Given the description of an element on the screen output the (x, y) to click on. 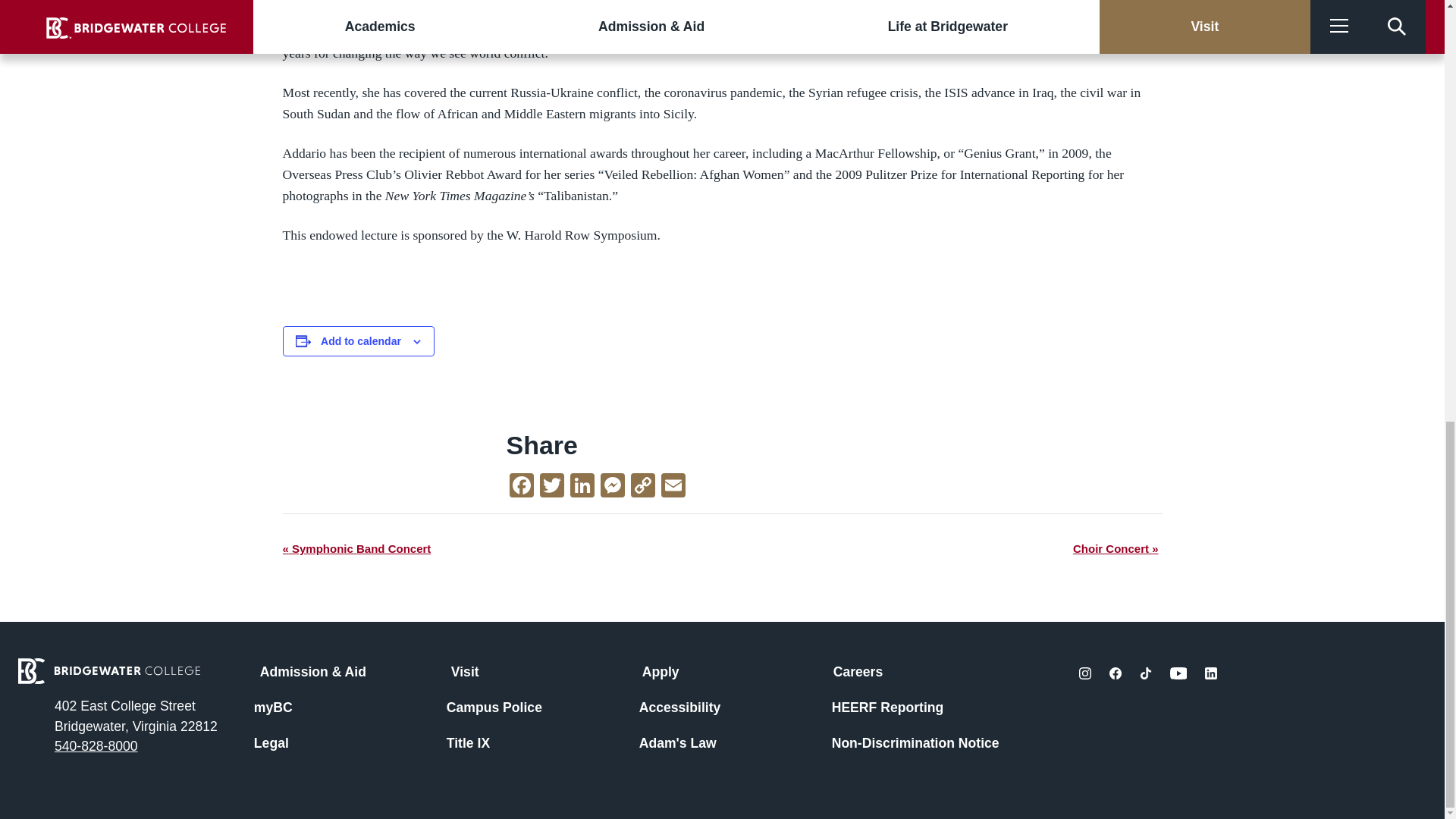
Copy Link (642, 487)
social-instagram-fill (1084, 673)
Messenger (611, 487)
Facebook (521, 487)
social-youtube (1178, 673)
Email (673, 487)
LinkedIn (581, 487)
Add to calendar (360, 340)
social-facebook (1115, 673)
Twitter (552, 487)
